Given the description of an element on the screen output the (x, y) to click on. 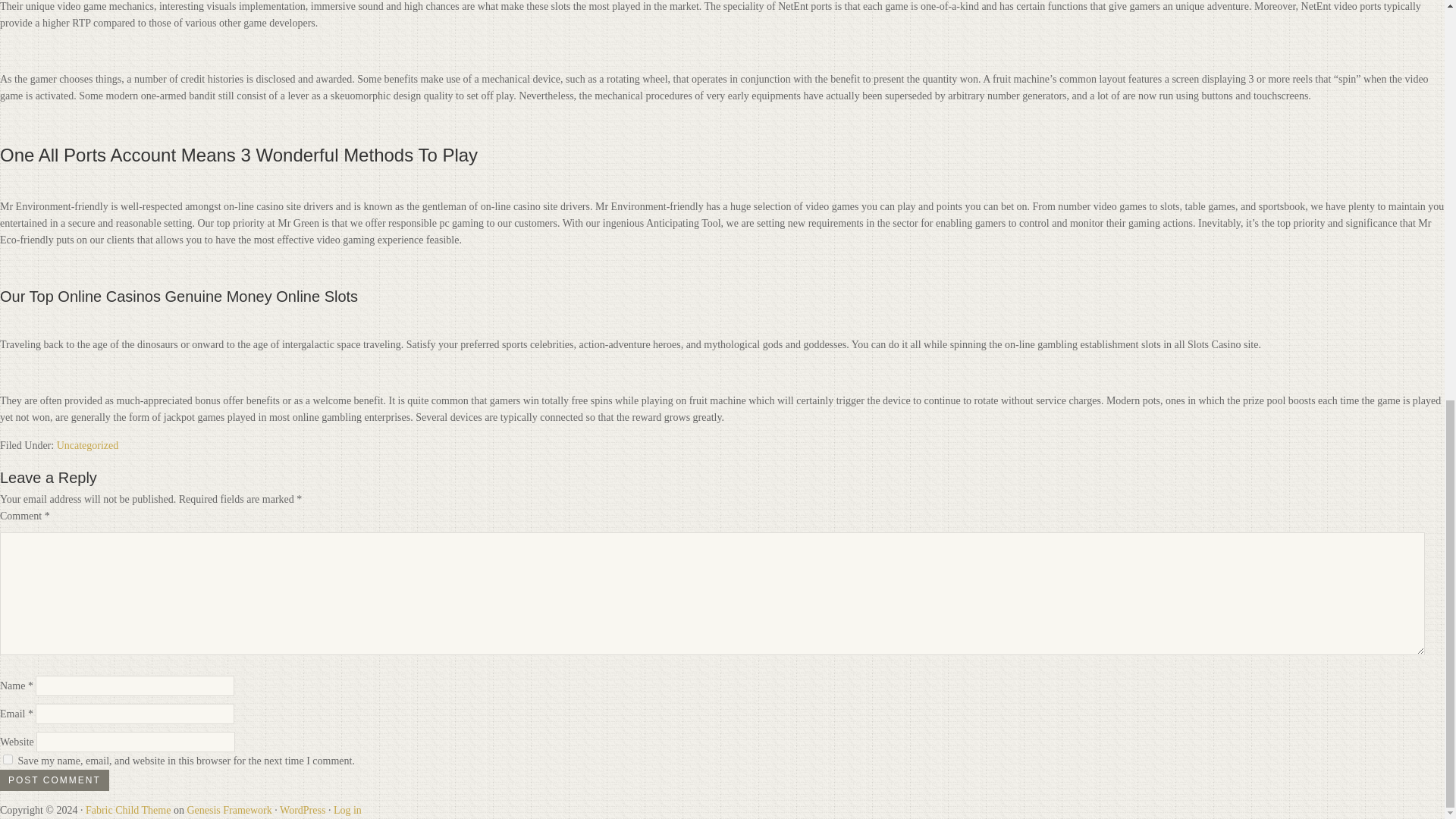
Post Comment (54, 779)
Fabric Child Theme (128, 808)
Uncategorized (87, 445)
WordPress (301, 808)
Genesis Framework (228, 808)
Post Comment (54, 779)
yes (7, 758)
Log in (347, 808)
